Given the description of an element on the screen output the (x, y) to click on. 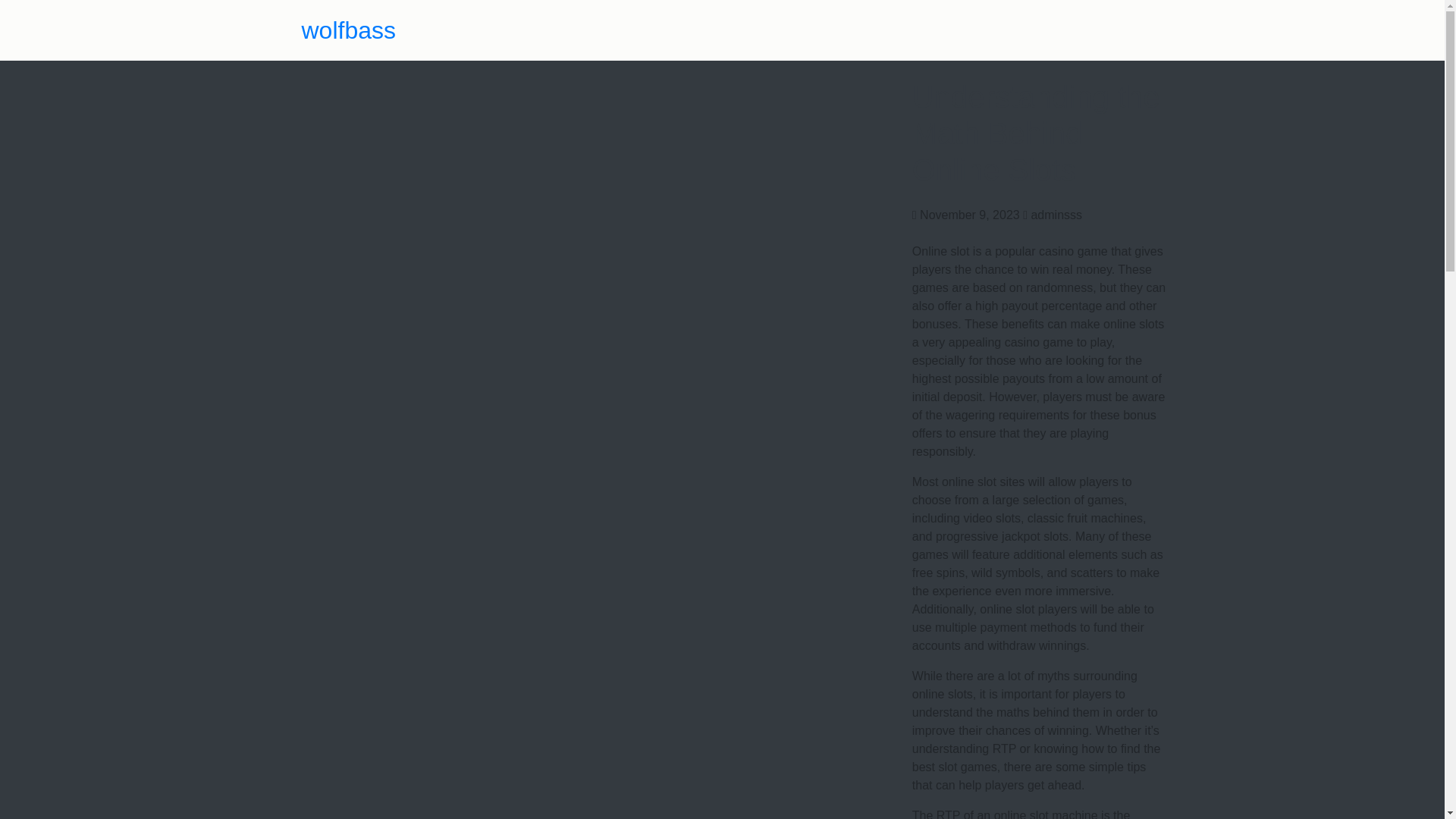
wolfbass (348, 30)
